Given the description of an element on the screen output the (x, y) to click on. 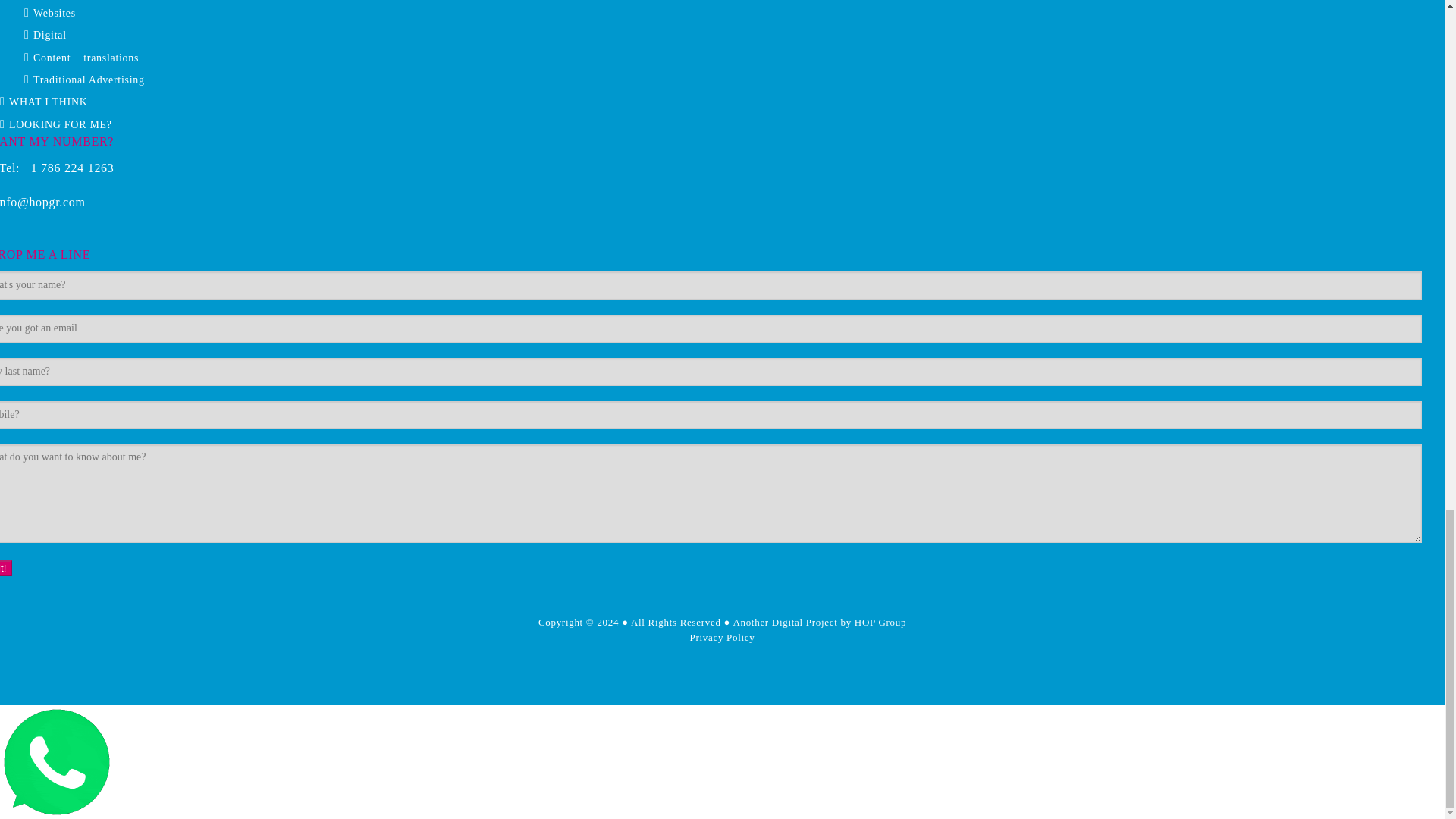
Traditional Advertising (88, 79)
Privacy Policy (722, 636)
Websites (54, 12)
WHAT I THINK (47, 101)
Digital (49, 34)
LOOKING FOR ME? (60, 124)
